Given the description of an element on the screen output the (x, y) to click on. 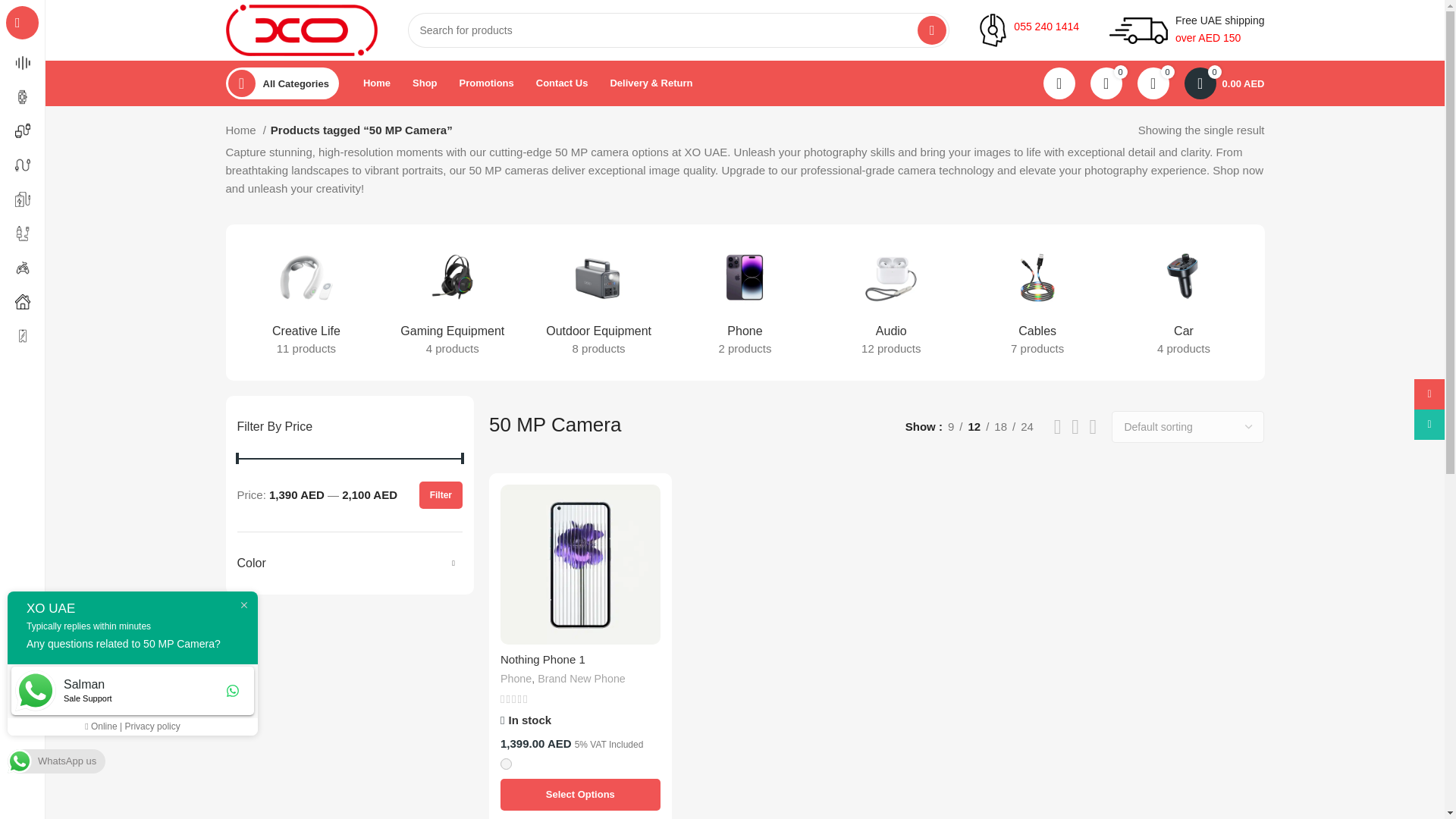
Search for products (678, 30)
My Wishlist (1152, 82)
Compare products (1106, 82)
Shopping cart (1224, 82)
My account (1059, 82)
